Given the description of an element on the screen output the (x, y) to click on. 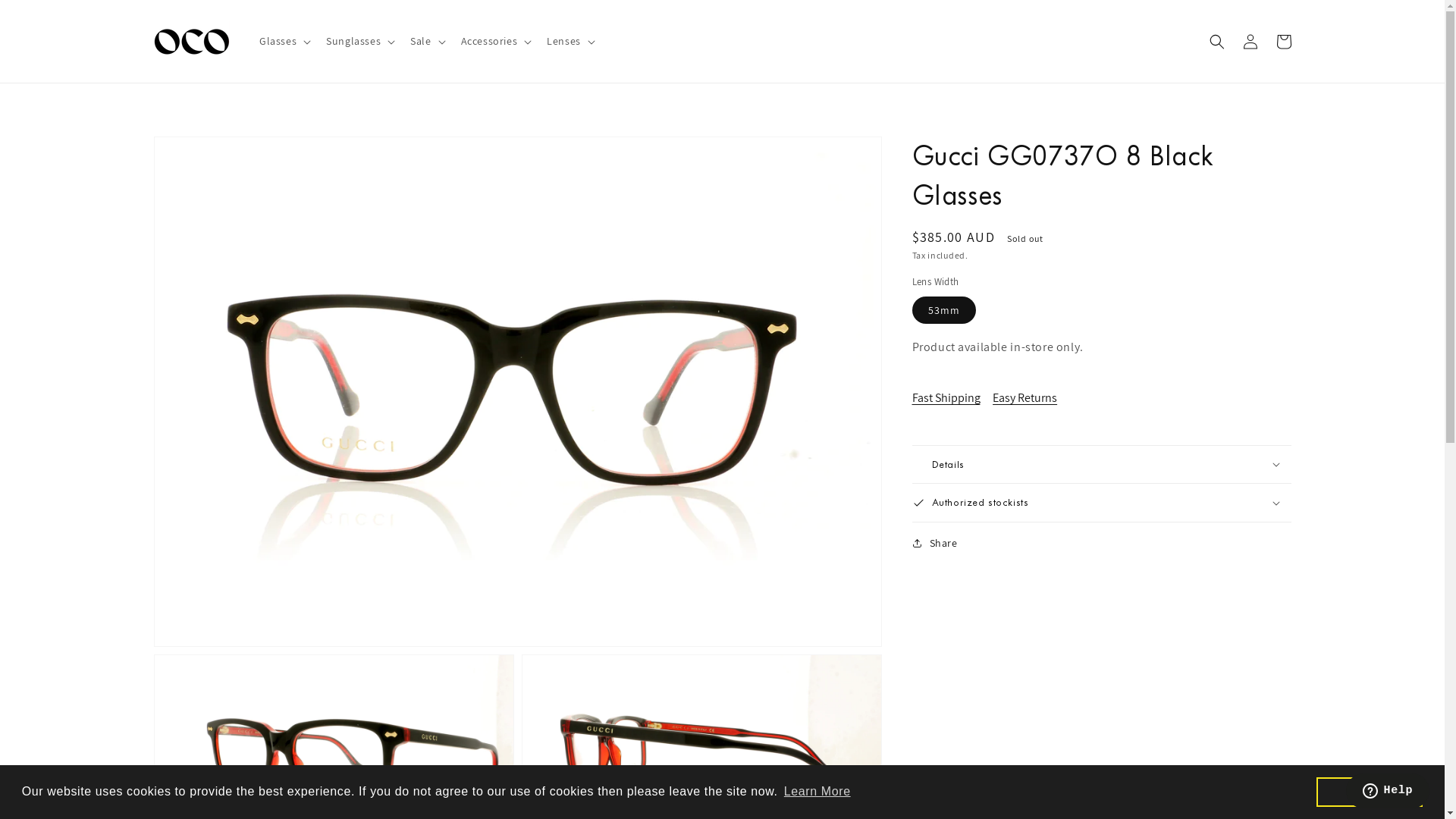
Open media 1 in gallery view Element type: text (517, 391)
Fast Shipping Element type: text (950, 397)
Log in Element type: text (1249, 40)
Skip to product information Element type: text (198, 152)
https://www.ocoglasses.com/products/gucci-gg0737o-008 Element type: text (1013, 592)
Cart Element type: text (1282, 40)
Easy Returns Element type: text (1029, 397)
Learn More Element type: text (817, 791)
Opens a widget where you can find more information Element type: hover (1387, 792)
Got it! Element type: text (1369, 791)
